Given the description of an element on the screen output the (x, y) to click on. 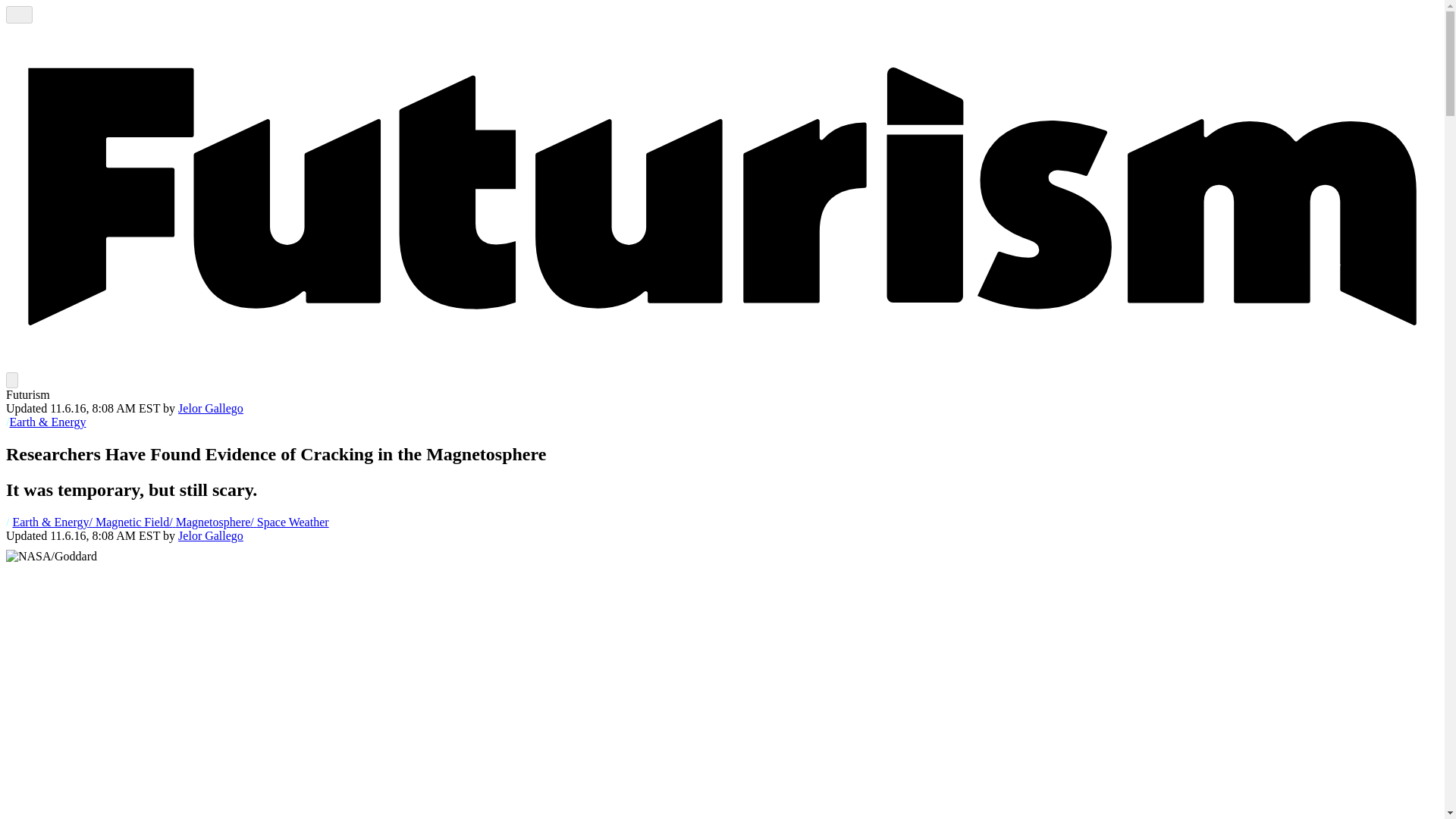
Jelor Gallego (210, 535)
Jelor Gallego (210, 408)
magnetic field (128, 521)
Jelor Gallego (210, 408)
space weather (289, 521)
Jelor Gallego (210, 535)
magnetosphere (209, 521)
